Given the description of an element on the screen output the (x, y) to click on. 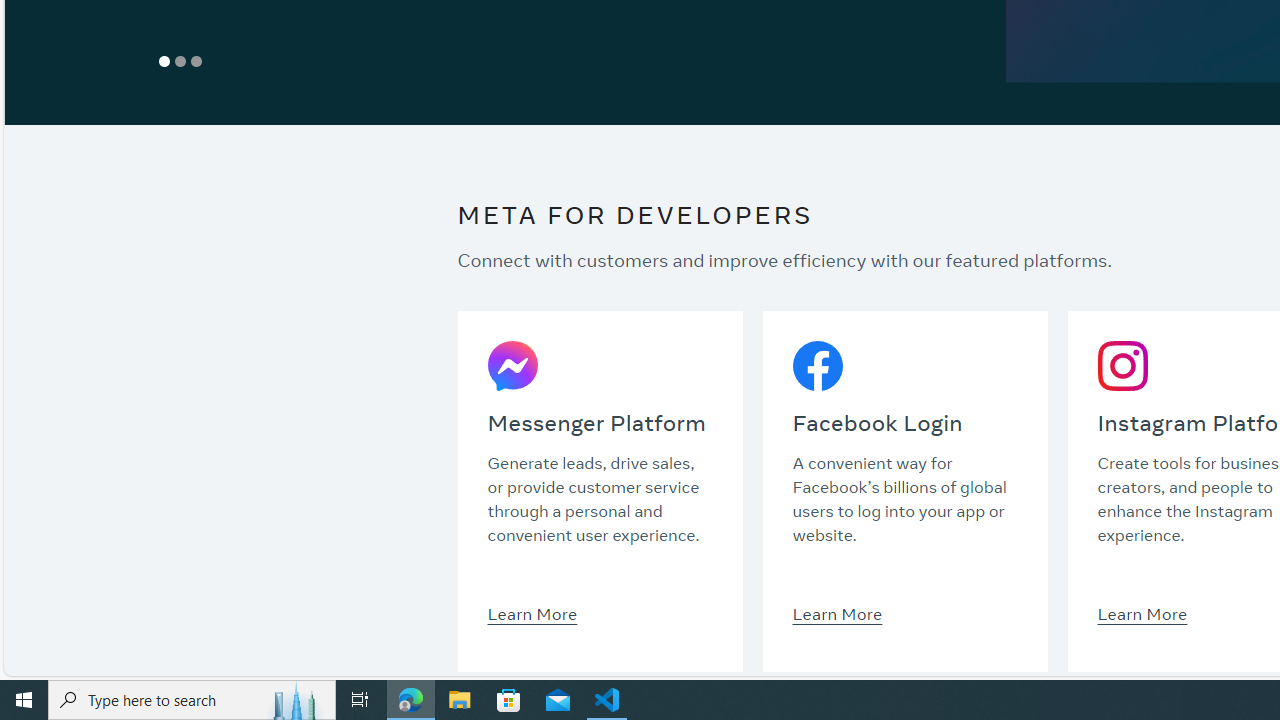
Show Slide 1 (164, 61)
Learn More (1141, 613)
Show Slide 3 (196, 61)
Show Slide 2 (180, 61)
